Given the description of an element on the screen output the (x, y) to click on. 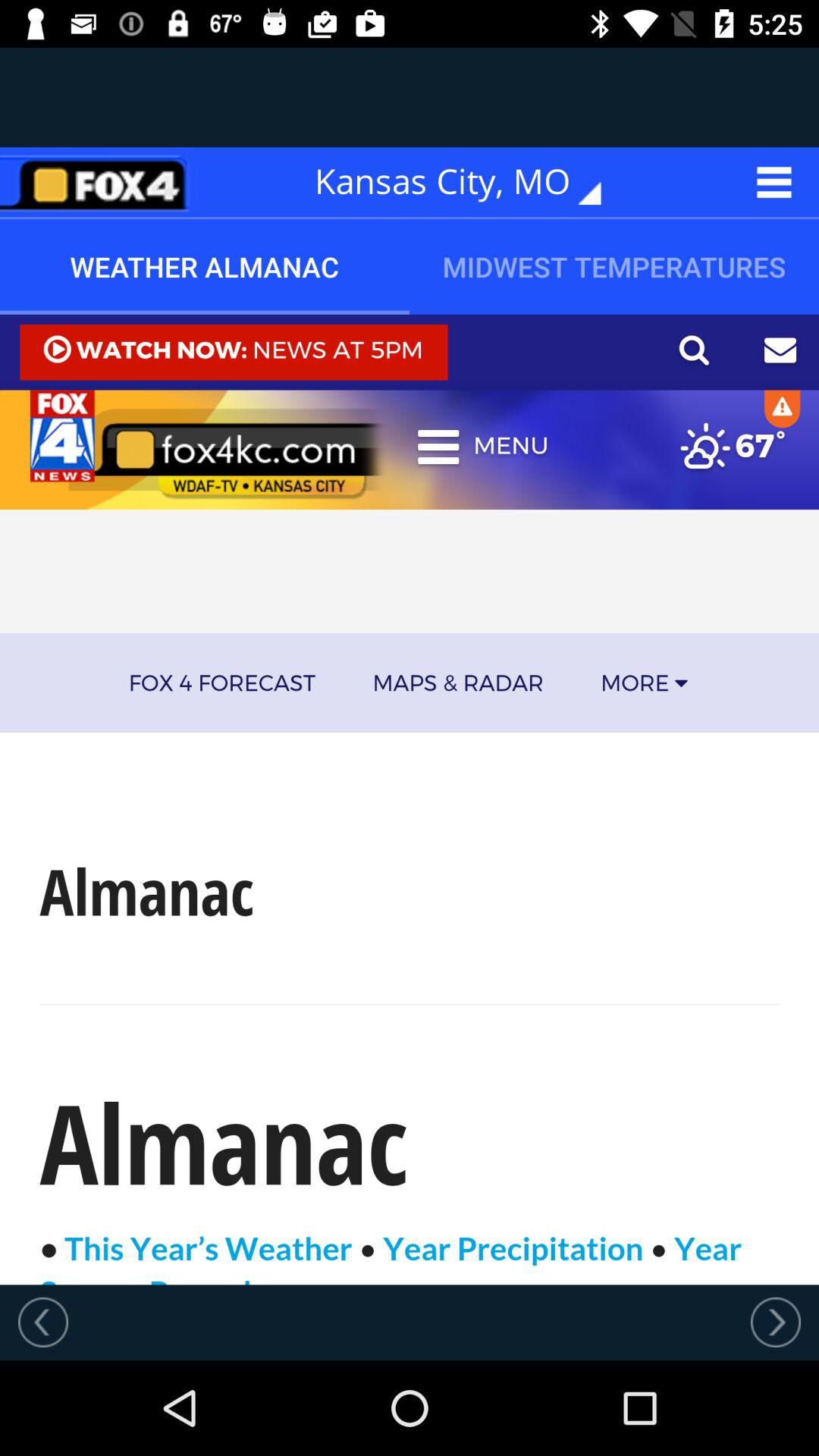
go to main fox page (99, 182)
